Given the description of an element on the screen output the (x, y) to click on. 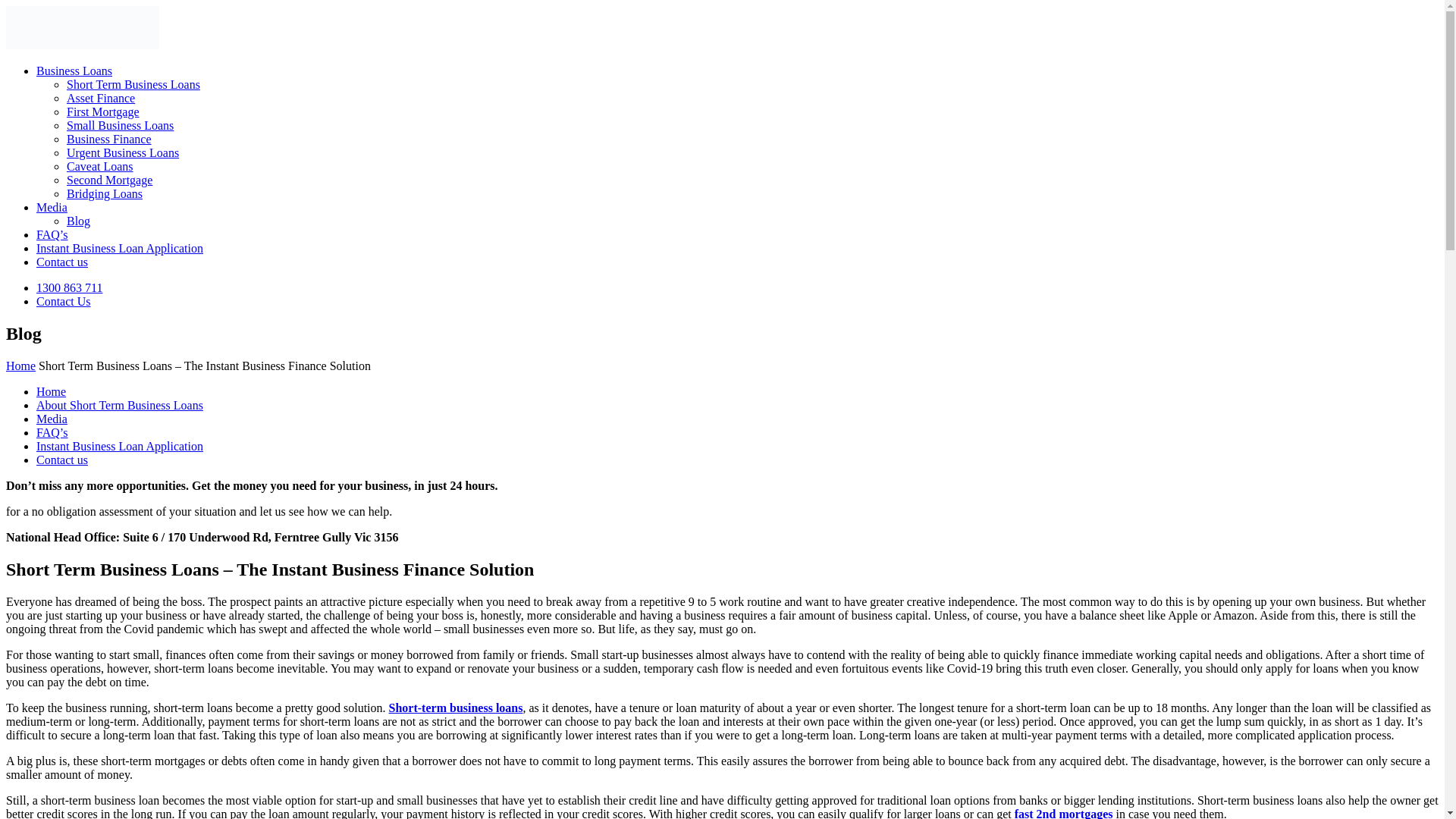
Instant Business Finance (81, 27)
Home (50, 391)
Small Business Loans (119, 124)
Instant Business Loan Application (119, 247)
About Short Term Business Loans (119, 404)
Second Mortgage (109, 179)
Urgent Business Loans (122, 152)
Home (19, 365)
Contact us (61, 261)
Contact Us (63, 300)
